Given the description of an element on the screen output the (x, y) to click on. 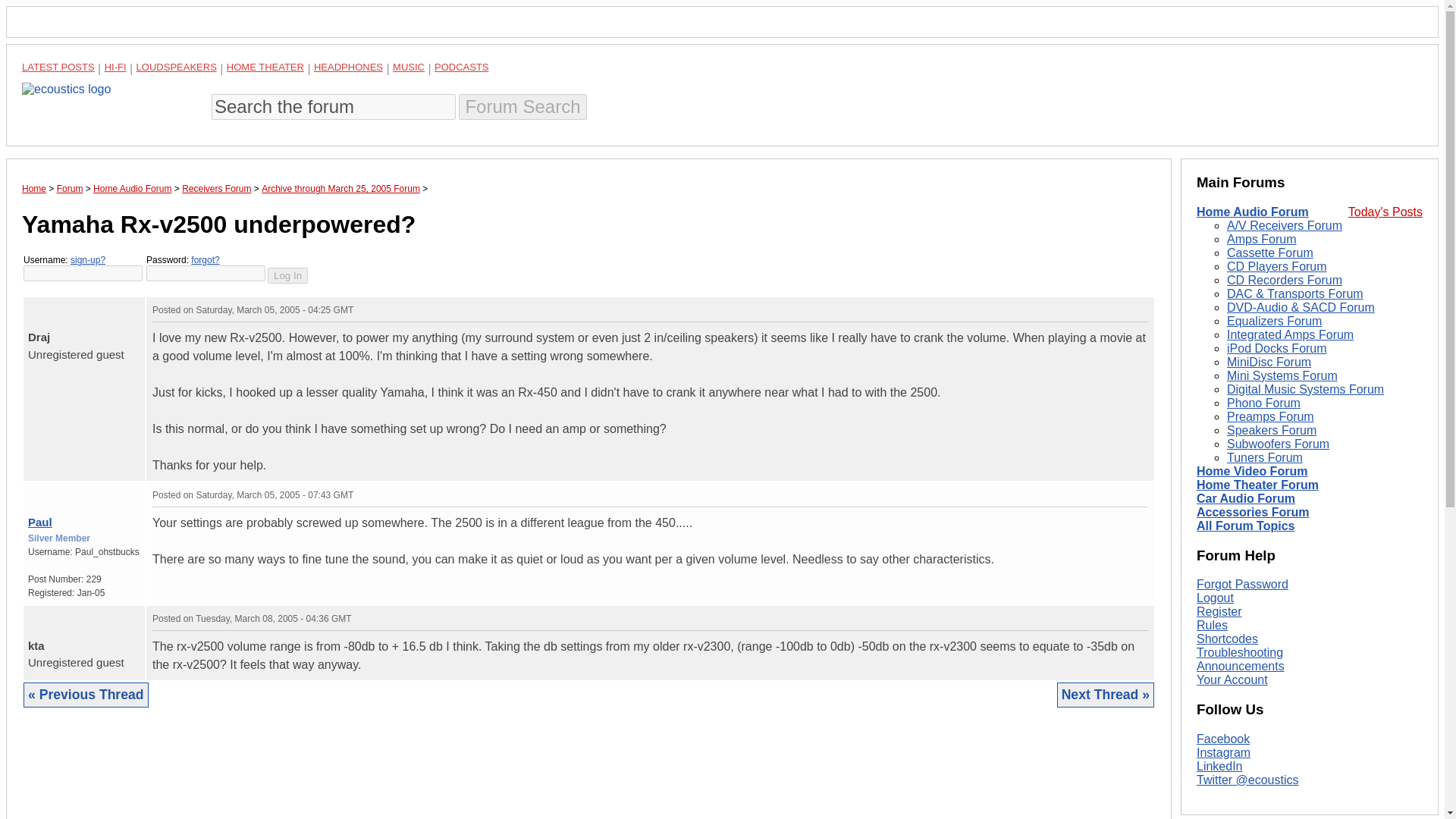
Home (33, 188)
Log In (287, 275)
HOME THEATER (265, 66)
Edit Post (1140, 617)
Log In (287, 275)
top of page (32, 307)
link to this post (68, 307)
link to this post (76, 491)
Archive through March 25, 2005 Forum (341, 188)
top of page (32, 491)
